Given the description of an element on the screen output the (x, y) to click on. 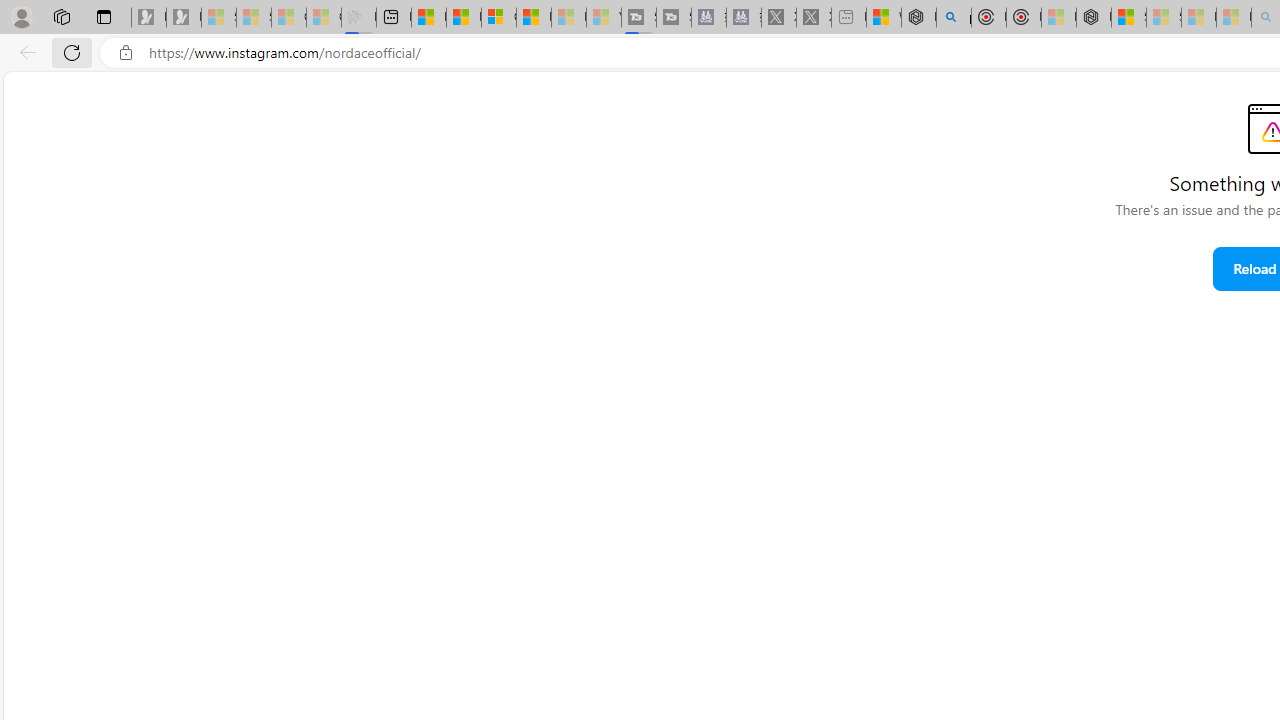
Wildlife - MSN (883, 17)
Overview (498, 17)
Streaming Coverage | T3 - Sleeping (639, 17)
X - Sleeping (813, 17)
Microsoft Start - Sleeping (568, 17)
Nordace - Summer Adventures 2024 (918, 17)
